Given the description of an element on the screen output the (x, y) to click on. 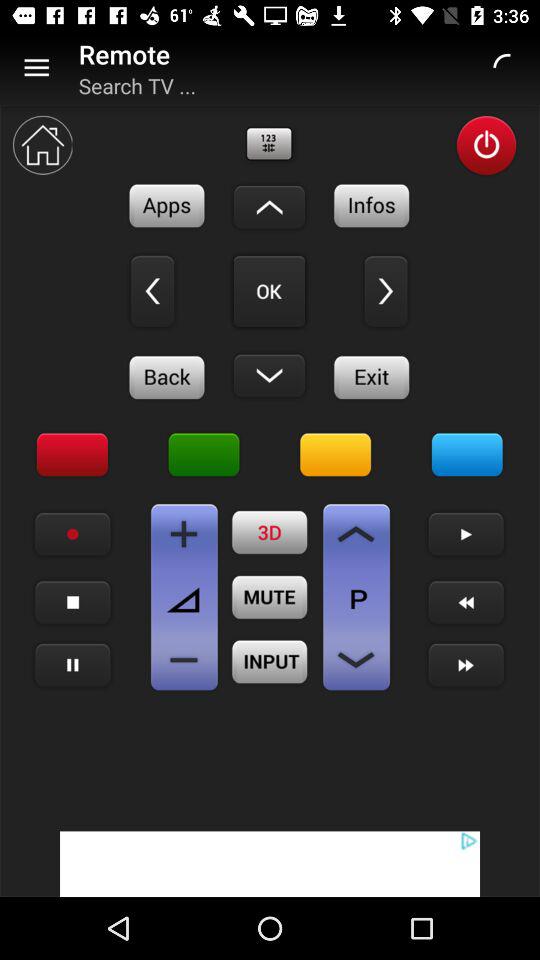
scroll up (269, 207)
